Given the description of an element on the screen output the (x, y) to click on. 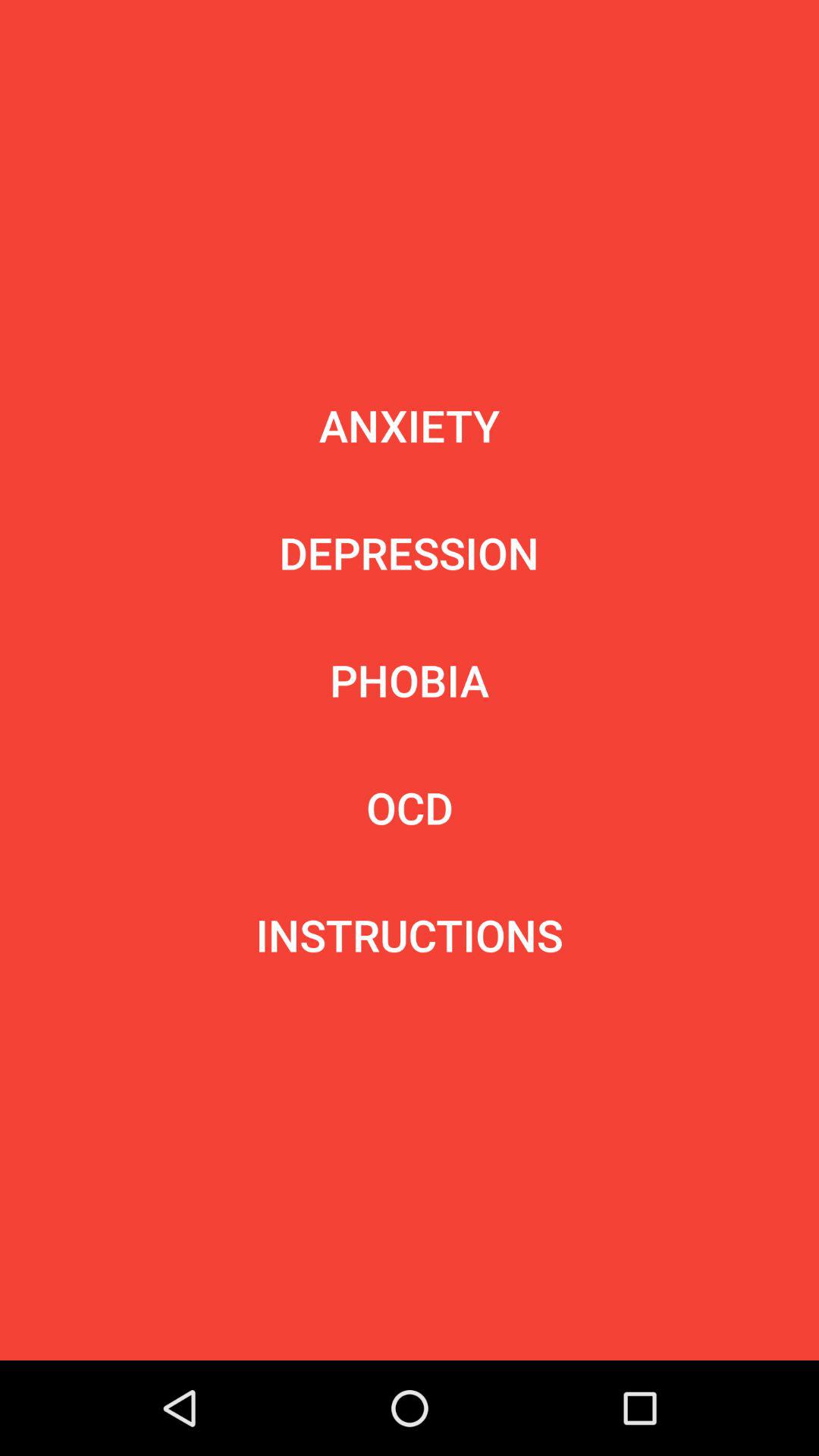
flip to ocd icon (409, 807)
